Given the description of an element on the screen output the (x, y) to click on. 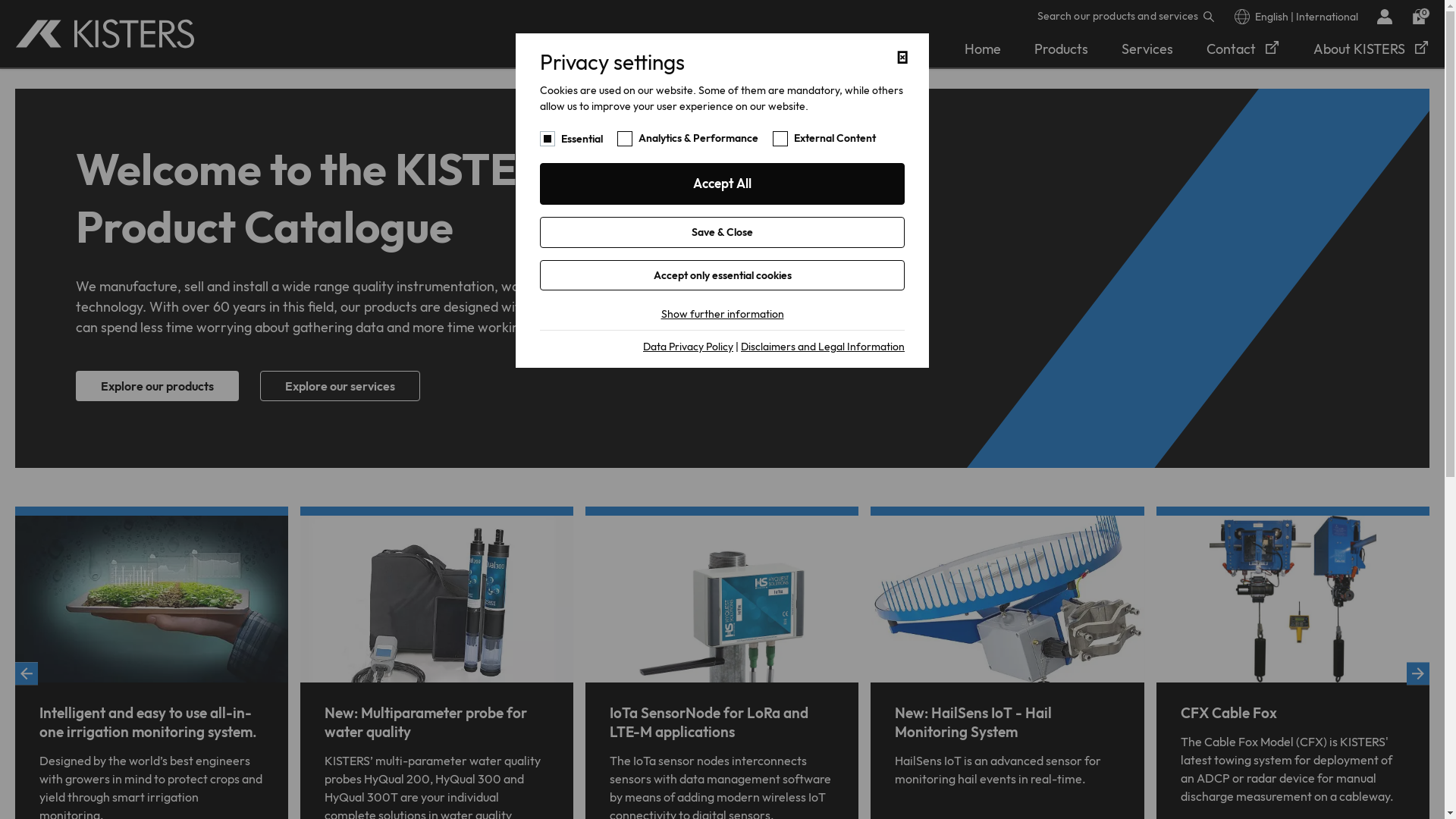
Show further information Element type: text (722, 313)
IoTa SensorNode for LoRa and LTE-M applications Element type: text (708, 721)
Contact Element type: text (1243, 48)
Explore our services Element type: text (340, 385)
CFX Cable Fox Element type: text (1228, 712)
Data Privacy Policy Element type: text (688, 346)
Accept only essential cookies Element type: text (721, 275)
Services Element type: text (1147, 48)
CFX/xxx Cable Fox Element type: hover (1292, 598)
Home Element type: hover (104, 33)
Home Element type: text (982, 48)
Explore our products Element type: text (156, 385)
Disclaimers and Legal Information Element type: text (822, 346)
New: HailSens IoT - Hail Monitoring System Element type: text (972, 721)
New: Multiparameter probe for water quality Element type: text (425, 721)
English | International Element type: text (1296, 16)
Save & Close Element type: text (721, 231)
Accept All Element type: text (721, 184)
About KISTERS Element type: text (1371, 48)
Products Element type: text (1061, 48)
